Given the description of an element on the screen output the (x, y) to click on. 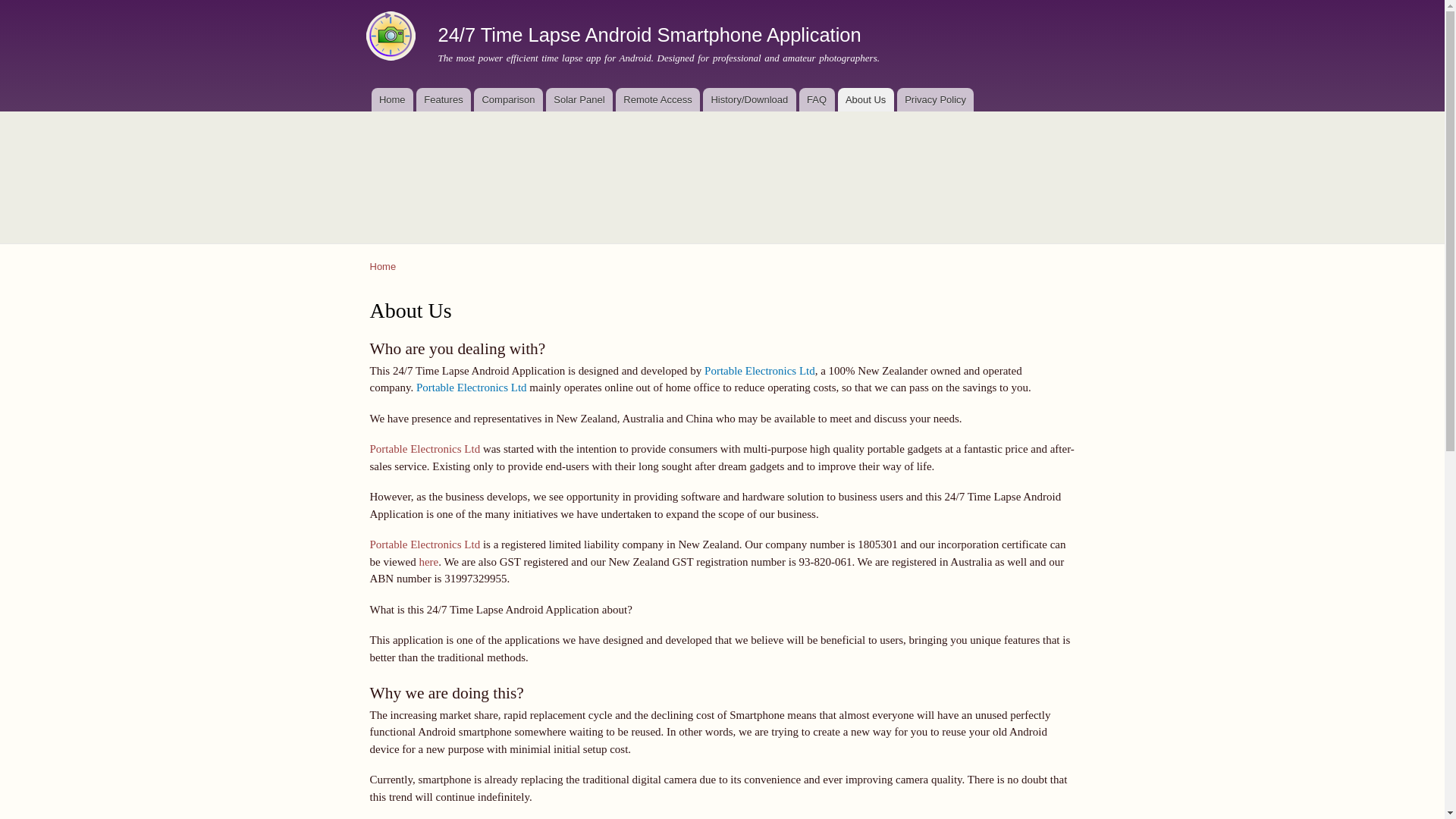
Solar Panel Element type: text (579, 99)
here Element type: text (428, 561)
Comparison Element type: text (507, 99)
Home Element type: hover (391, 38)
Advertisement Element type: hover (721, 168)
Portable Electronics Ltd Element type: text (425, 448)
History/Download Element type: text (749, 99)
FAQ Element type: text (816, 99)
Portable Electronics Ltd Element type: text (471, 387)
About Us Element type: text (865, 99)
Home Element type: text (383, 266)
Remote Access Element type: text (657, 99)
Features Element type: text (443, 99)
Portable Electronics Ltd Element type: text (425, 544)
Skip to main content Element type: text (690, 1)
Home Element type: text (392, 99)
Privacy Policy Element type: text (935, 99)
Portable Electronics Ltd Element type: text (759, 370)
24/7 Time Lapse Android Smartphone Application Element type: text (649, 34)
